Given the description of an element on the screen output the (x, y) to click on. 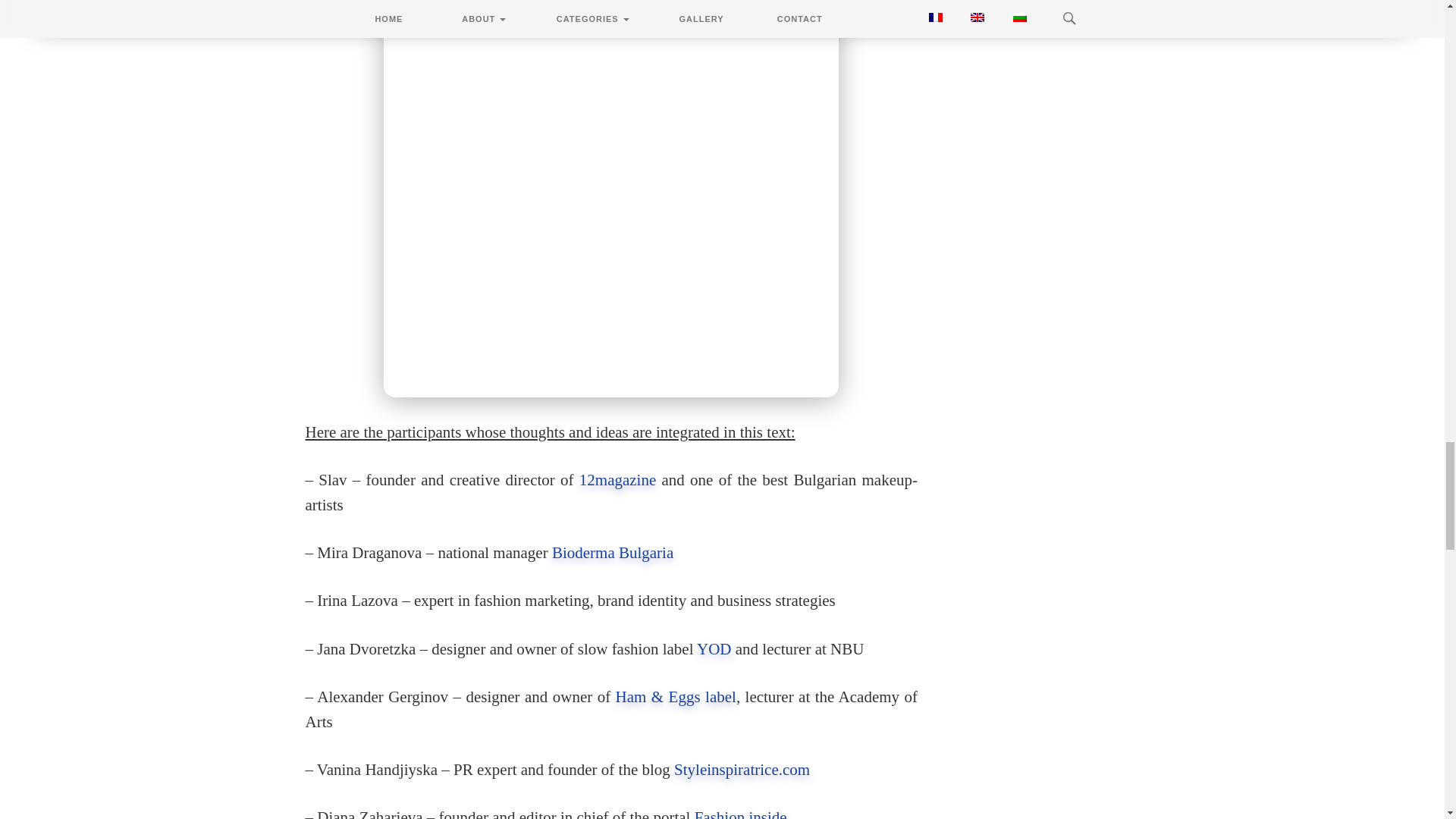
Styleinspiratrice.com (741, 769)
12magazine (617, 479)
Fashion inside (740, 813)
Bioderma Bulgaria (611, 552)
YOD (716, 648)
